Given the description of an element on the screen output the (x, y) to click on. 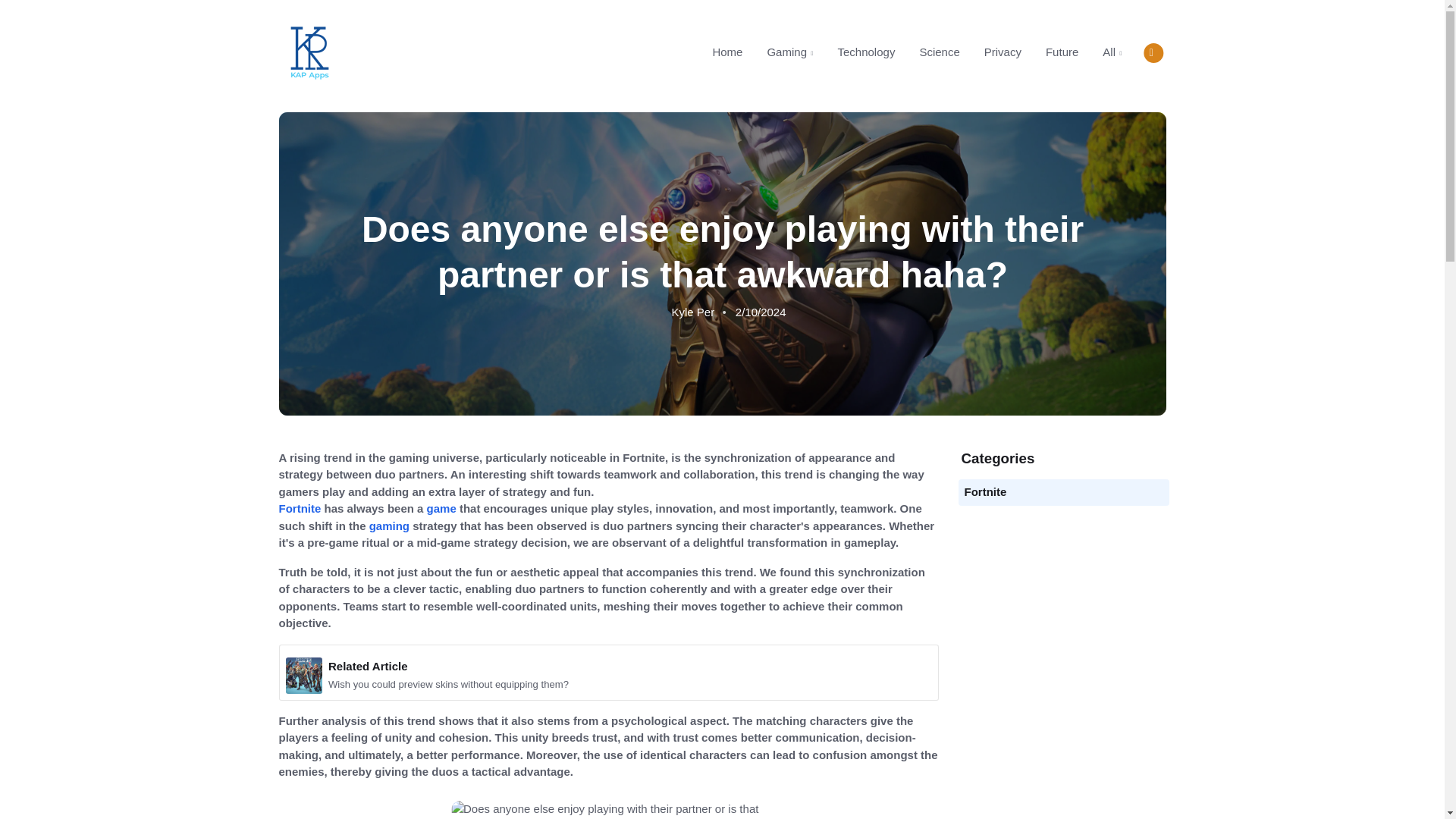
Science (939, 52)
Fortnite (985, 491)
Kyle Per (692, 311)
game (441, 508)
Technology (866, 52)
gaming (389, 525)
Gaming (789, 52)
Privacy (1002, 52)
Fortnite (300, 508)
